Given the description of an element on the screen output the (x, y) to click on. 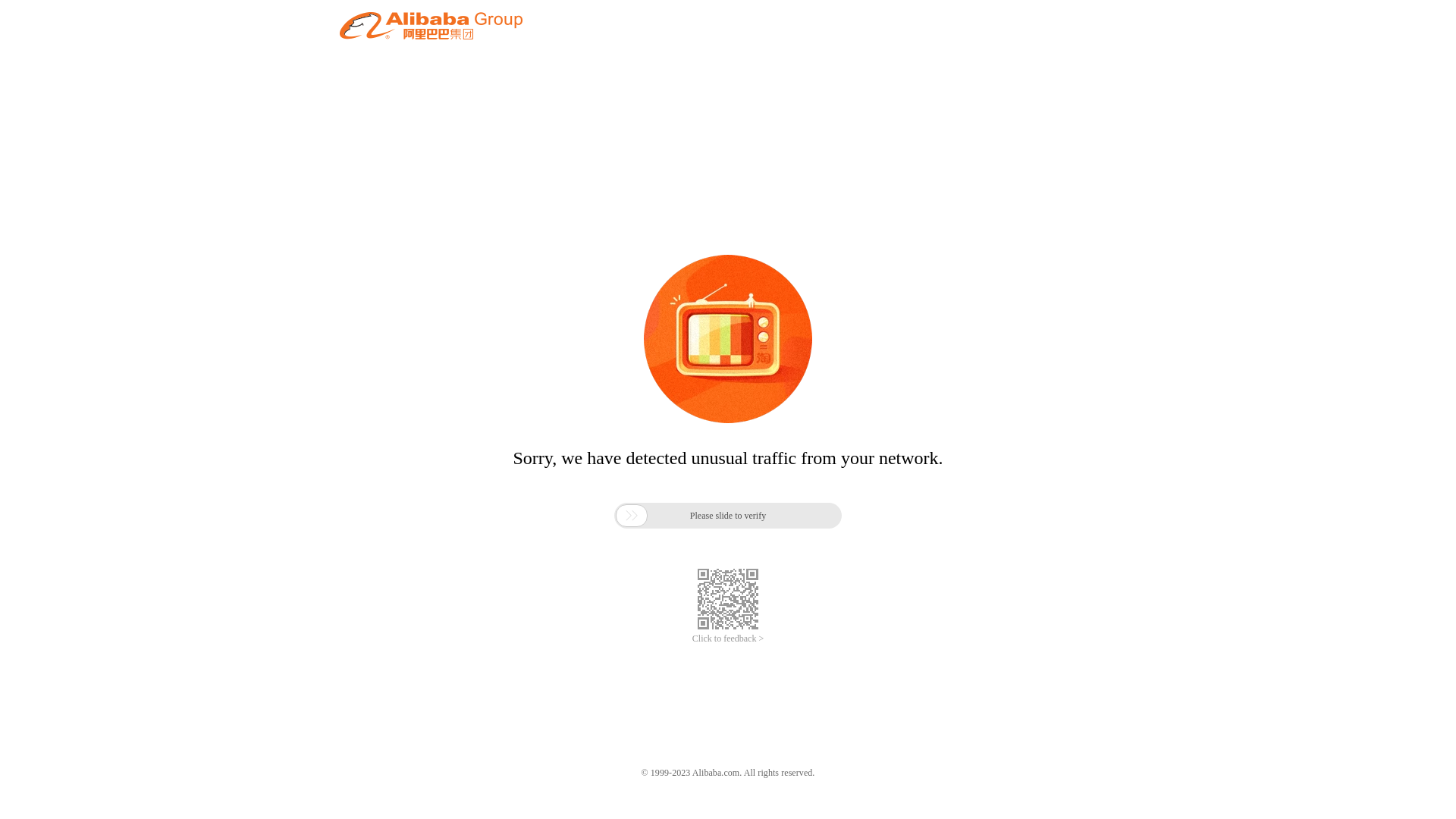
Click to feedback > Element type: text (727, 638)
